Given the description of an element on the screen output the (x, y) to click on. 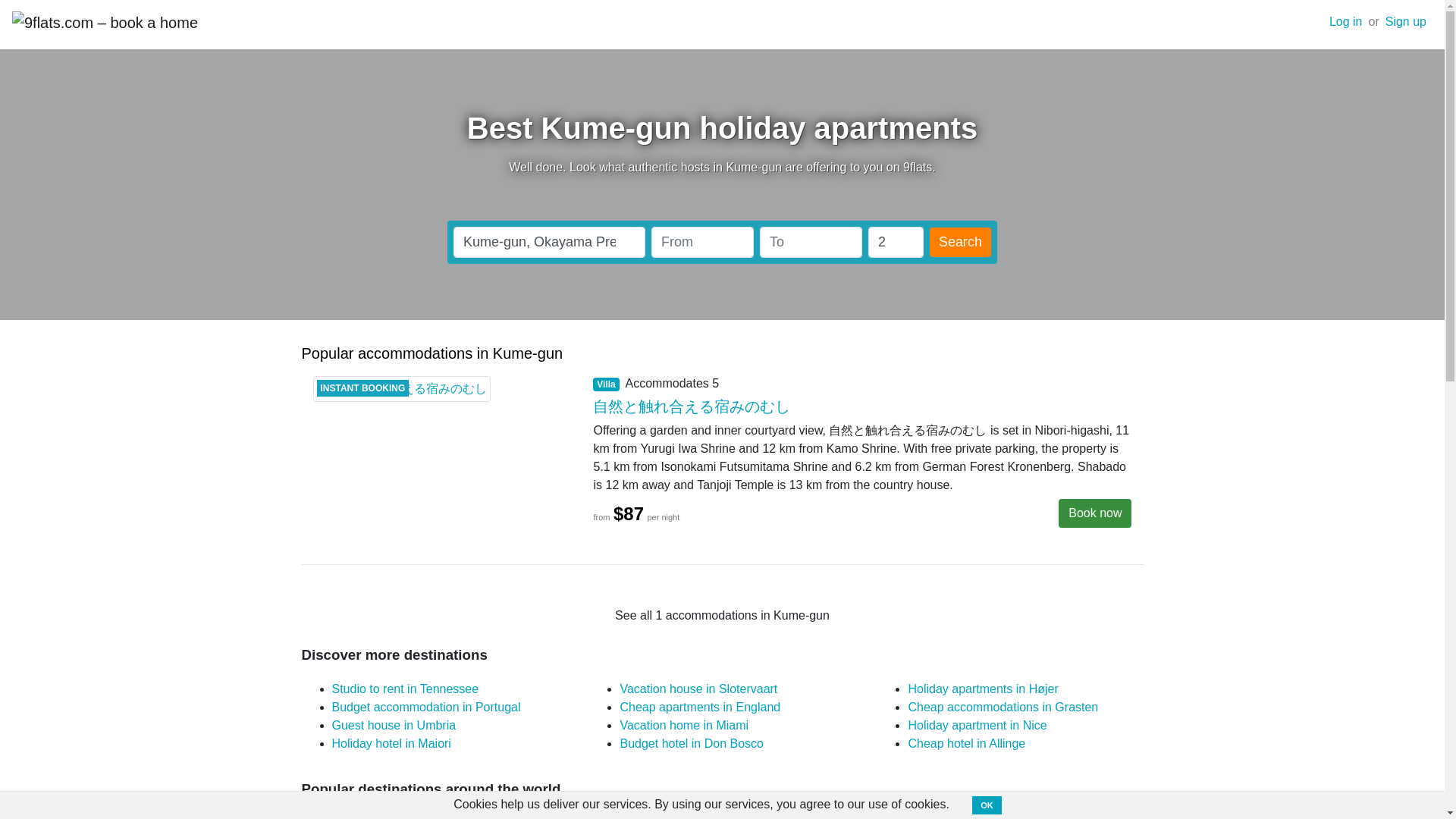
Holiday apartment in Nice (976, 725)
Cheap apartments in England (700, 707)
2 (895, 241)
Log in (1345, 21)
Search (960, 242)
Sign up (1405, 21)
2 (895, 241)
Studio to rent in Tennessee (405, 688)
See all 1 accommodations in Kume-gun (722, 615)
Log in (1345, 21)
